Given the description of an element on the screen output the (x, y) to click on. 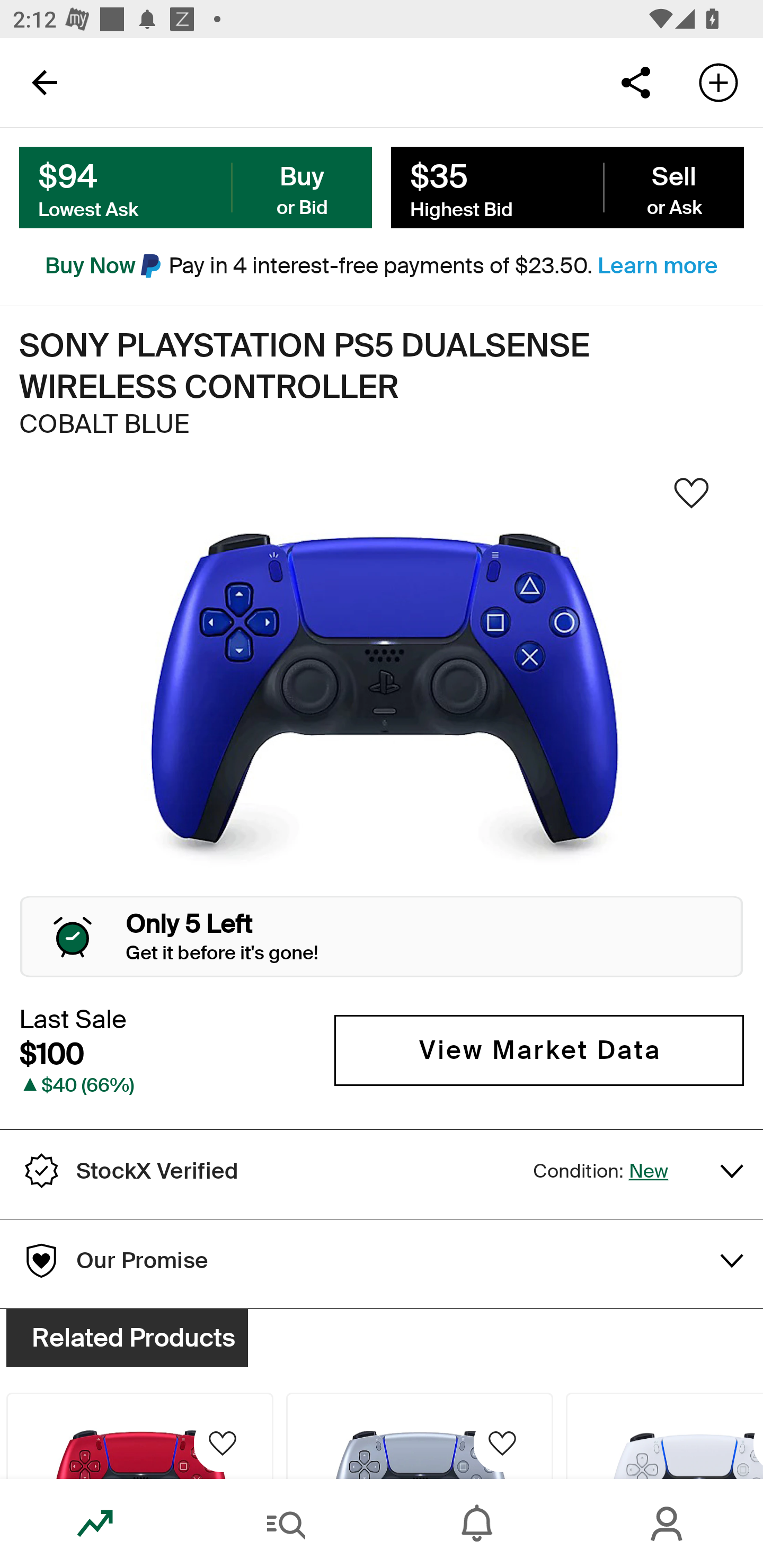
Share (635, 81)
Add (718, 81)
$233 Buy Lowest Ask or Bid (195, 187)
$219 Sell Highest Bid or Ask (566, 187)
Sneaker Image (381, 698)
View Market Data (538, 1050)
Search (285, 1523)
Inbox (476, 1523)
Account (667, 1523)
